Given the description of an element on the screen output the (x, y) to click on. 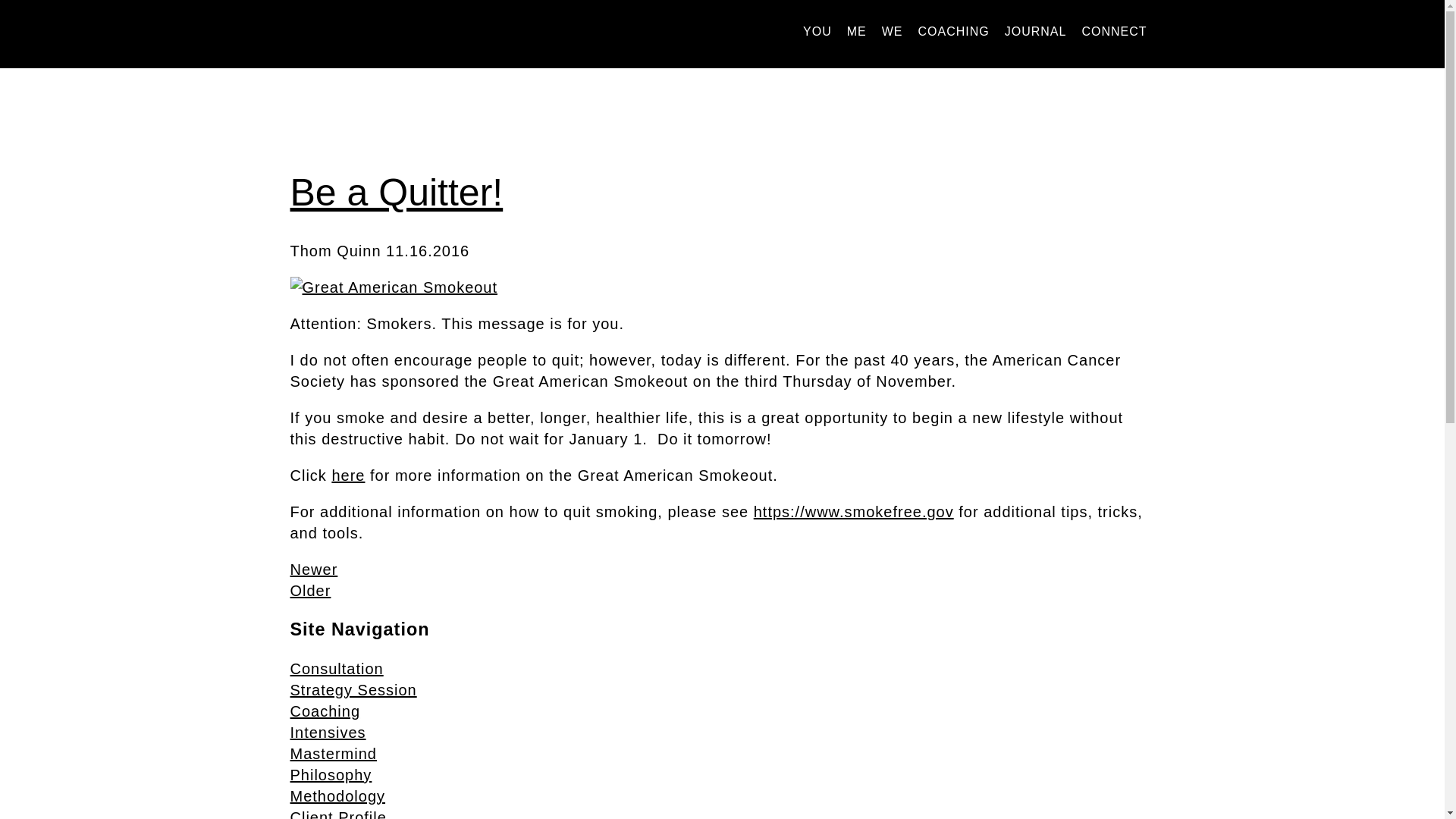
Strategy Session (352, 689)
Methodology (337, 795)
Newer (313, 569)
Consultation (335, 668)
Intensives (327, 732)
Philosophy (330, 774)
COACHING (952, 34)
CONNECT (1114, 34)
Thom Quinn (392, 33)
Be a Quitter! (395, 192)
YOU (817, 34)
Older (309, 590)
JOURNAL (1035, 34)
here (348, 475)
Client Profile (337, 814)
